Given the description of an element on the screen output the (x, y) to click on. 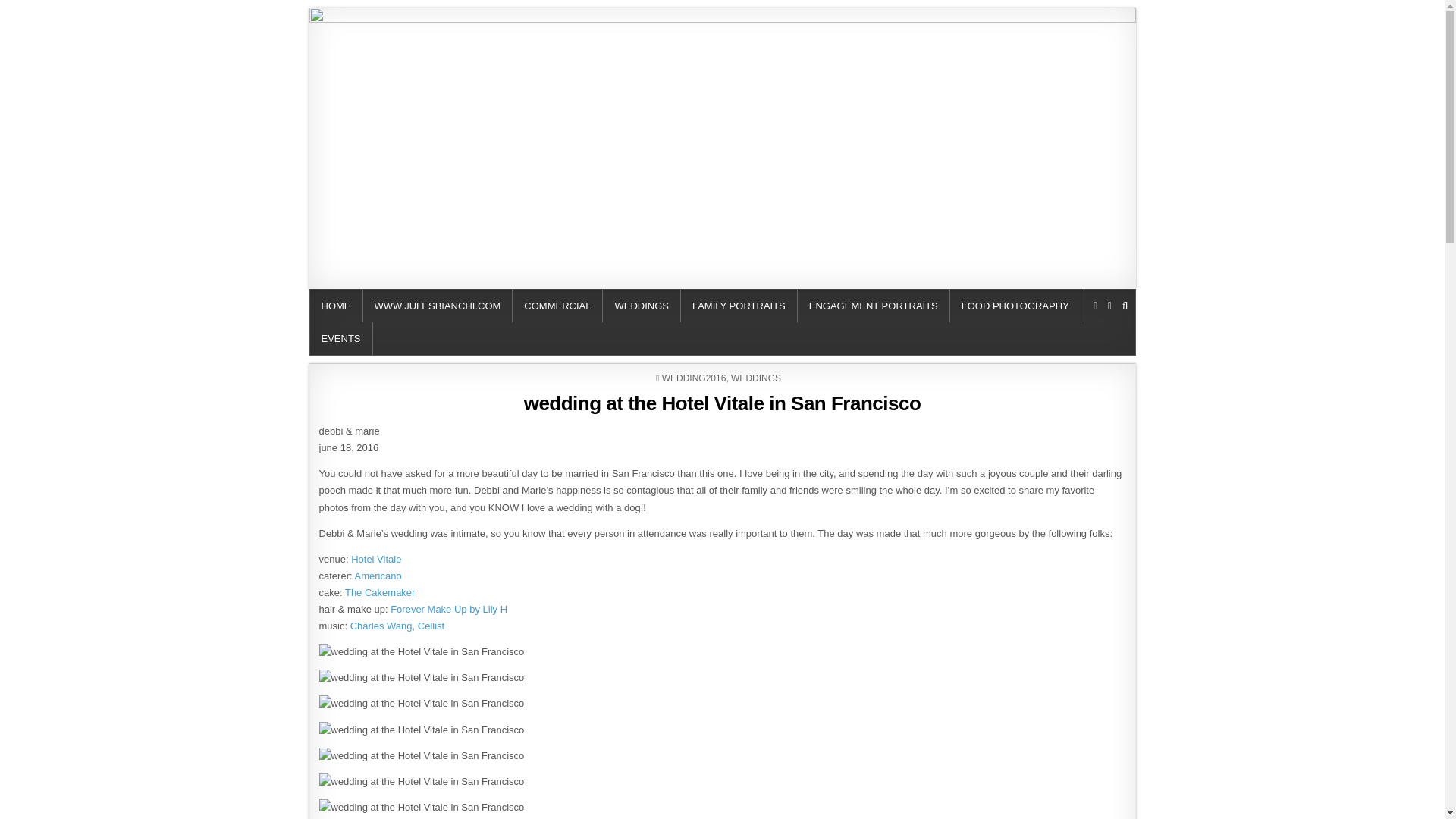
ENGAGEMENT PORTRAITS (873, 305)
Hotel Vitale (375, 559)
WEDDINGS (641, 305)
FOOD PHOTOGRAPHY (1015, 305)
Americano (377, 575)
WWW.JULESBIANCHI.COM (437, 305)
WEDDINGS (755, 378)
WEDDING2016 (694, 378)
EVENTS (340, 338)
Forever Make Up by Lily H (448, 609)
HOME (335, 305)
Charles Wang, Cellist (397, 625)
The Cakemaker (379, 592)
wedding at the Hotel Vitale in San Francisco (722, 403)
COMMERCIAL (557, 305)
